Given the description of an element on the screen output the (x, y) to click on. 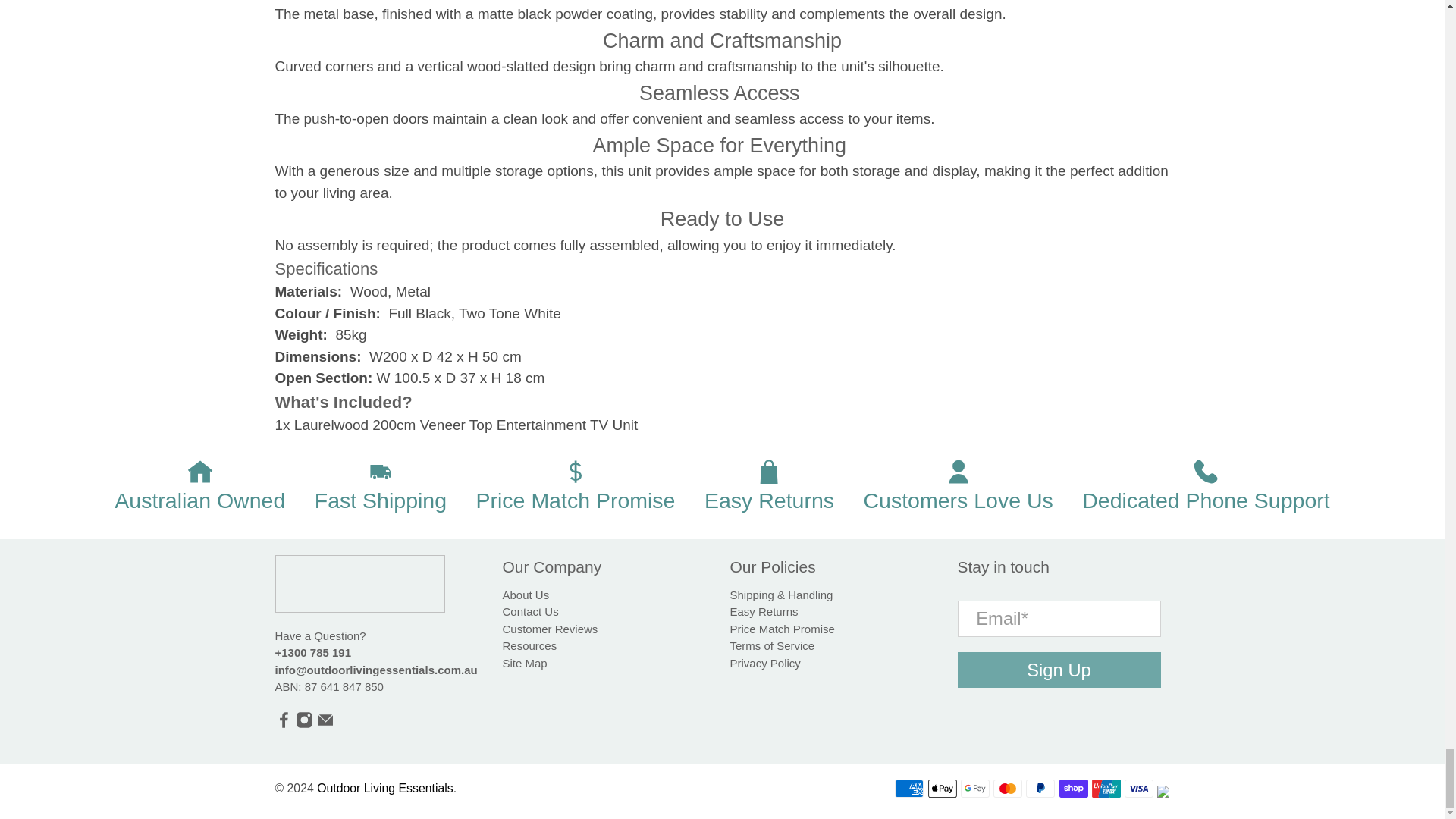
Shop Pay (1073, 788)
American Express (909, 788)
Outdoor Living Essentials on Facebook (283, 723)
Outdoor Living Essentials (359, 591)
Apple Pay (942, 788)
Email Outdoor Living Essentials (325, 723)
Outdoor Living Essentials on Instagram (304, 723)
Mastercard (1007, 788)
Google Pay (975, 788)
PayPal (1040, 788)
